Given the description of an element on the screen output the (x, y) to click on. 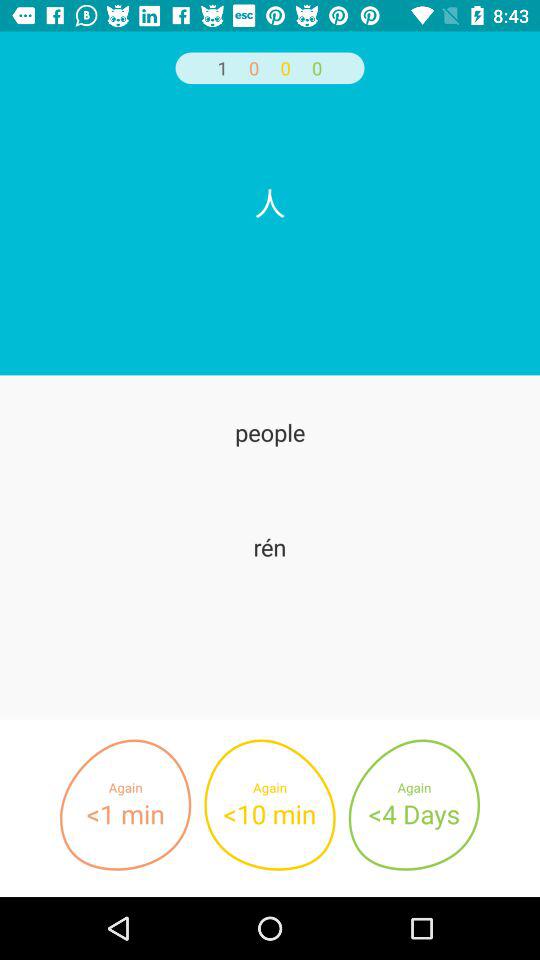
select yellow colour circle (269, 805)
click the again1 (125, 805)
